Given the description of an element on the screen output the (x, y) to click on. 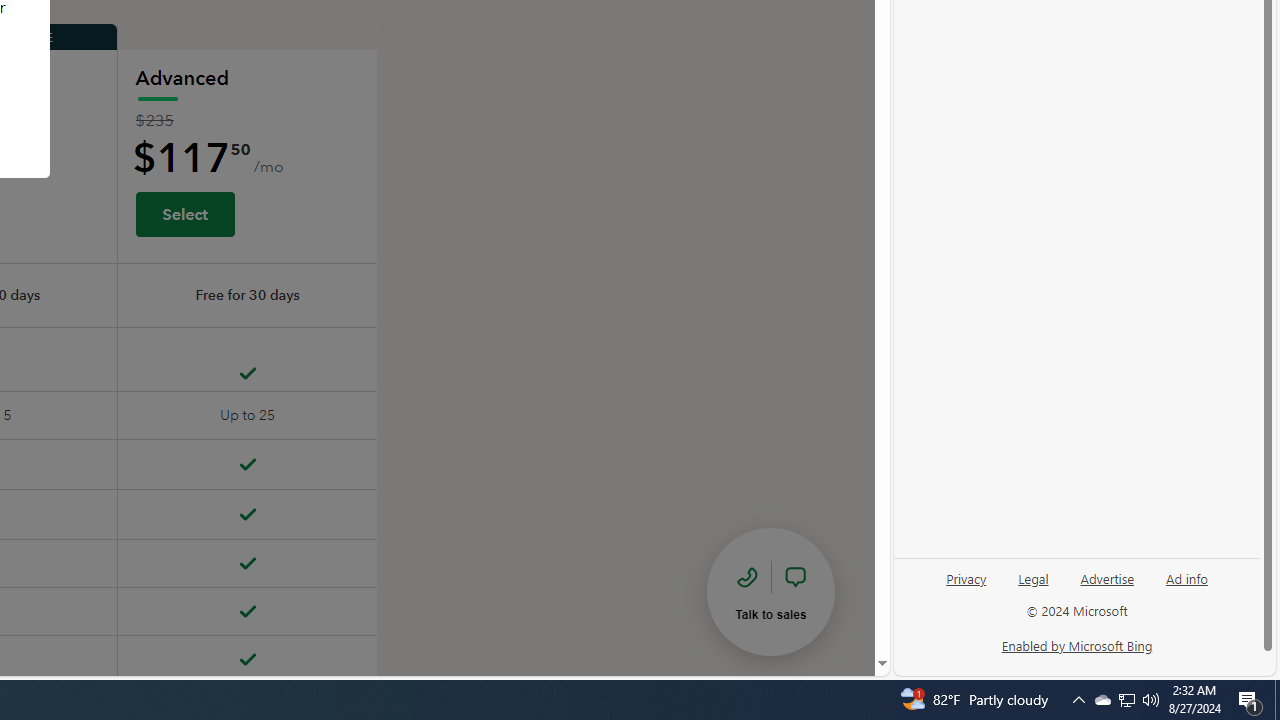
talk to sales (770, 591)
Select advanced (184, 213)
